Given the description of an element on the screen output the (x, y) to click on. 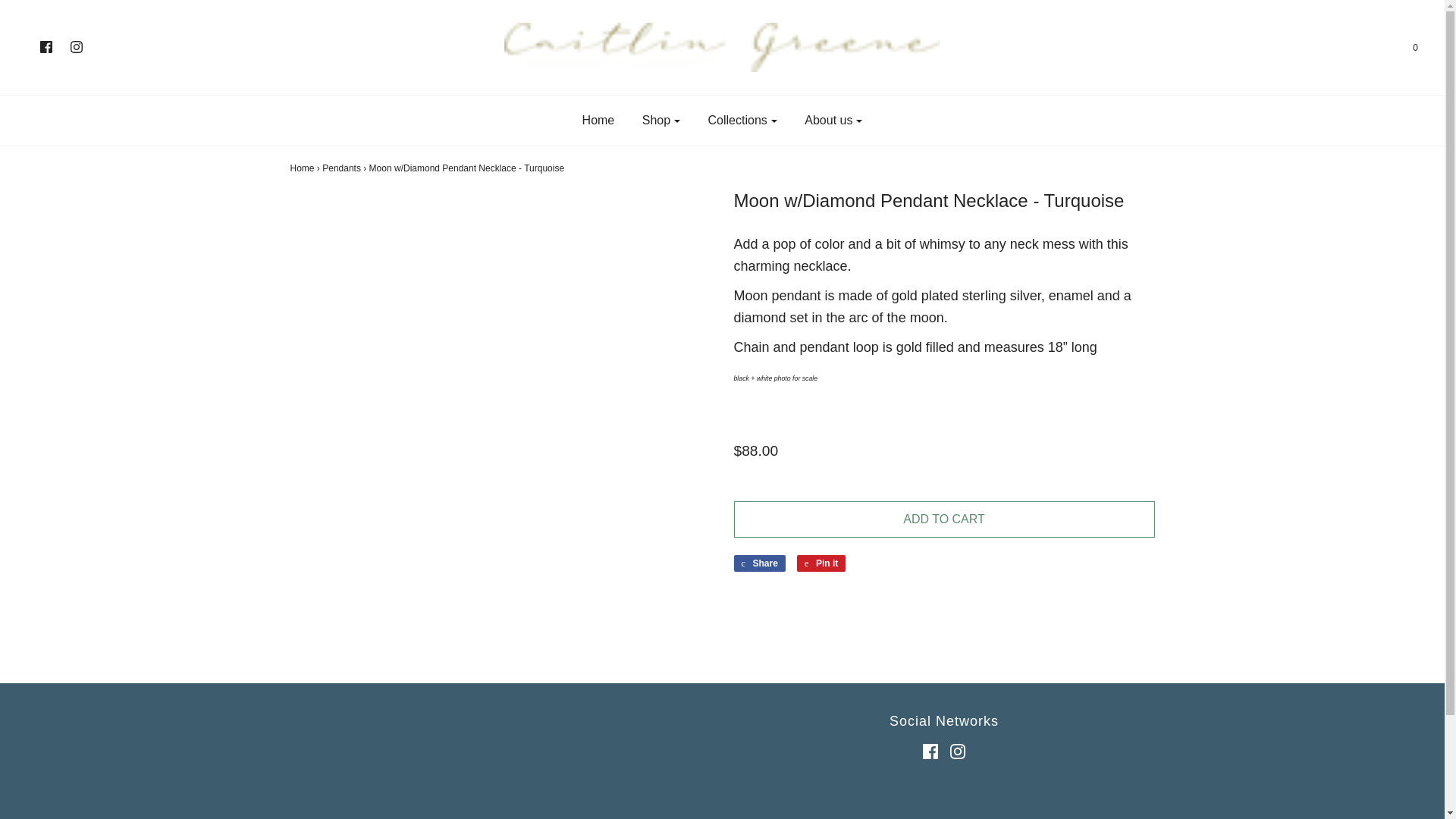
Instagram icon (957, 751)
Instagram icon (76, 47)
Collections (743, 120)
Home (598, 120)
Cart (1405, 47)
Facebook icon (930, 751)
Back to the frontpage (301, 167)
Instagram icon (76, 46)
Shop (660, 120)
Facebook icon (46, 46)
Facebook icon (46, 47)
0 (1405, 47)
